Given the description of an element on the screen output the (x, y) to click on. 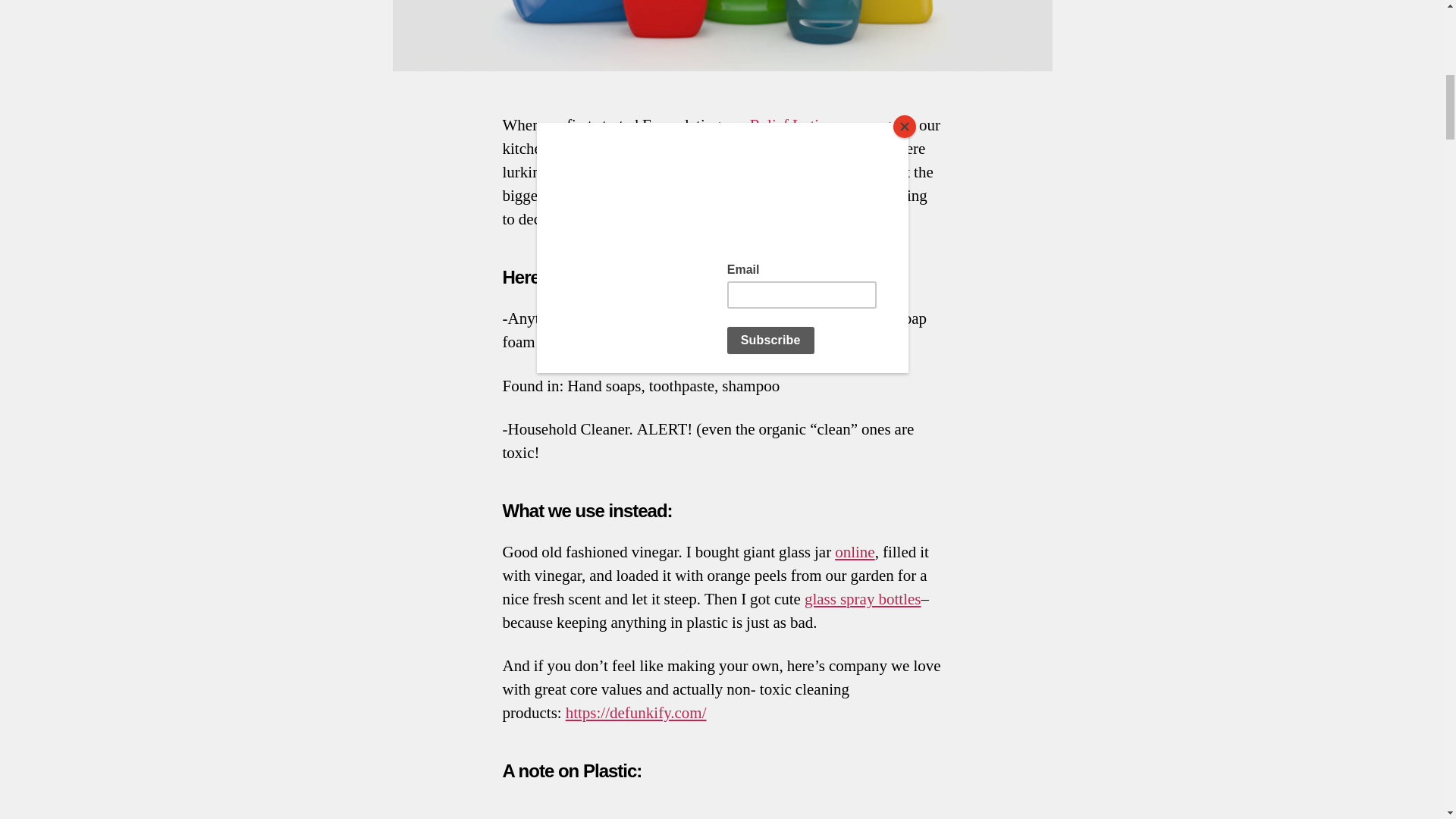
glass spray bottles (862, 598)
online (854, 552)
Relief Lotion (791, 125)
